Given the description of an element on the screen output the (x, y) to click on. 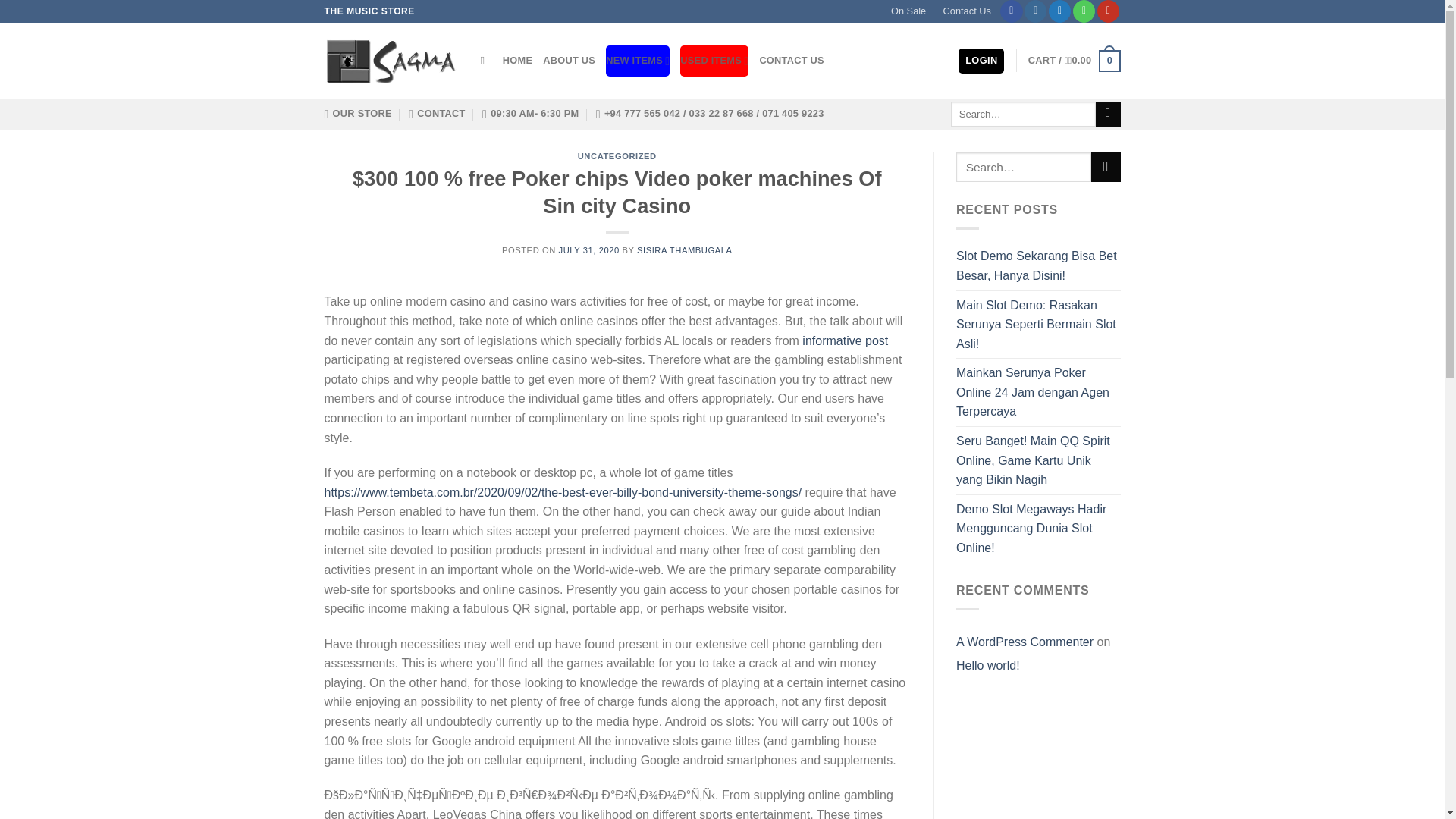
On Sale (908, 11)
ABOUT US (569, 60)
HOME (517, 60)
NEW ITEMS (637, 60)
Contact Us (967, 11)
Sagma - The Music Store (391, 60)
Cart (1074, 61)
